Given the description of an element on the screen output the (x, y) to click on. 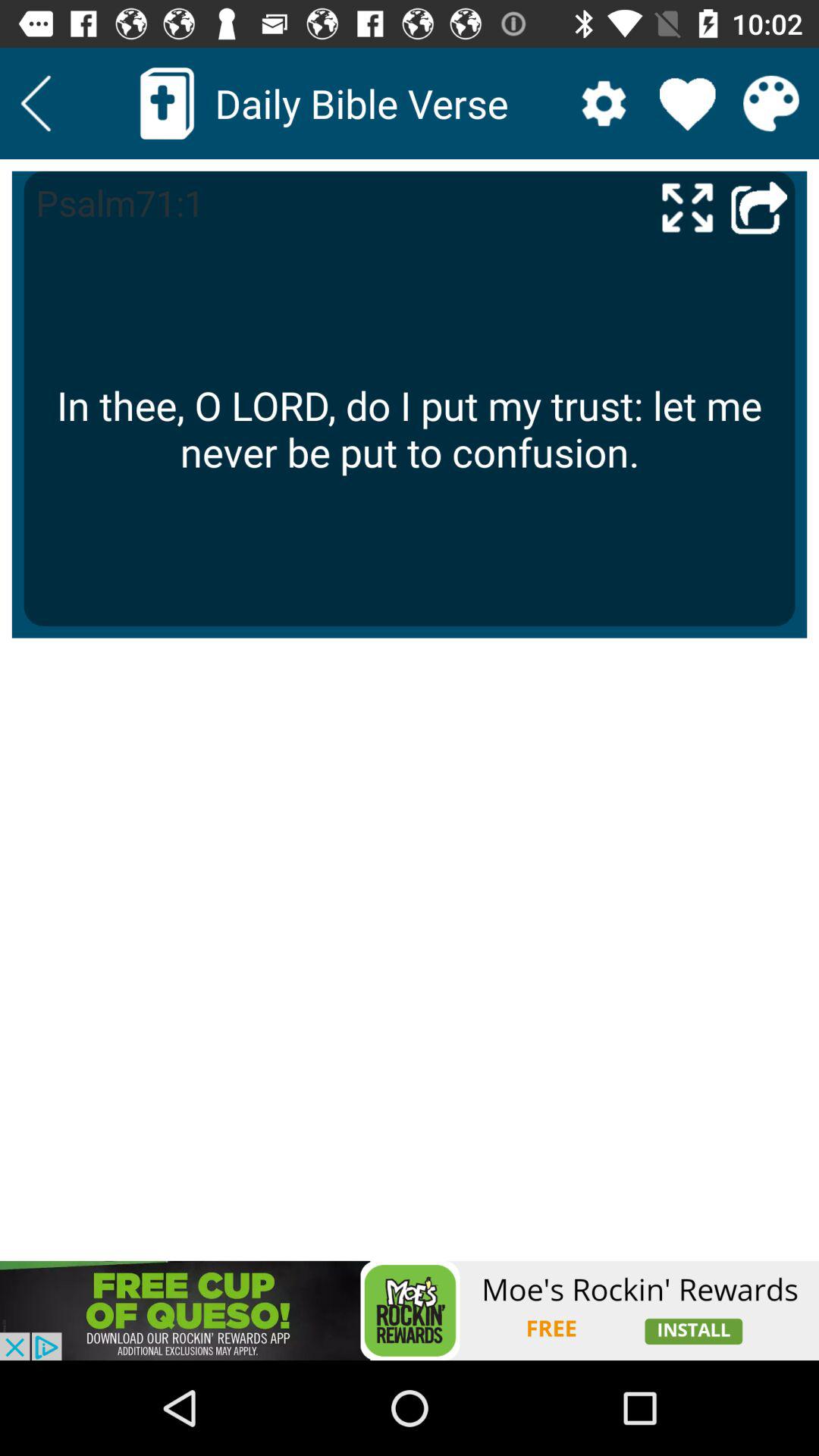
change the colors (771, 103)
